Given the description of an element on the screen output the (x, y) to click on. 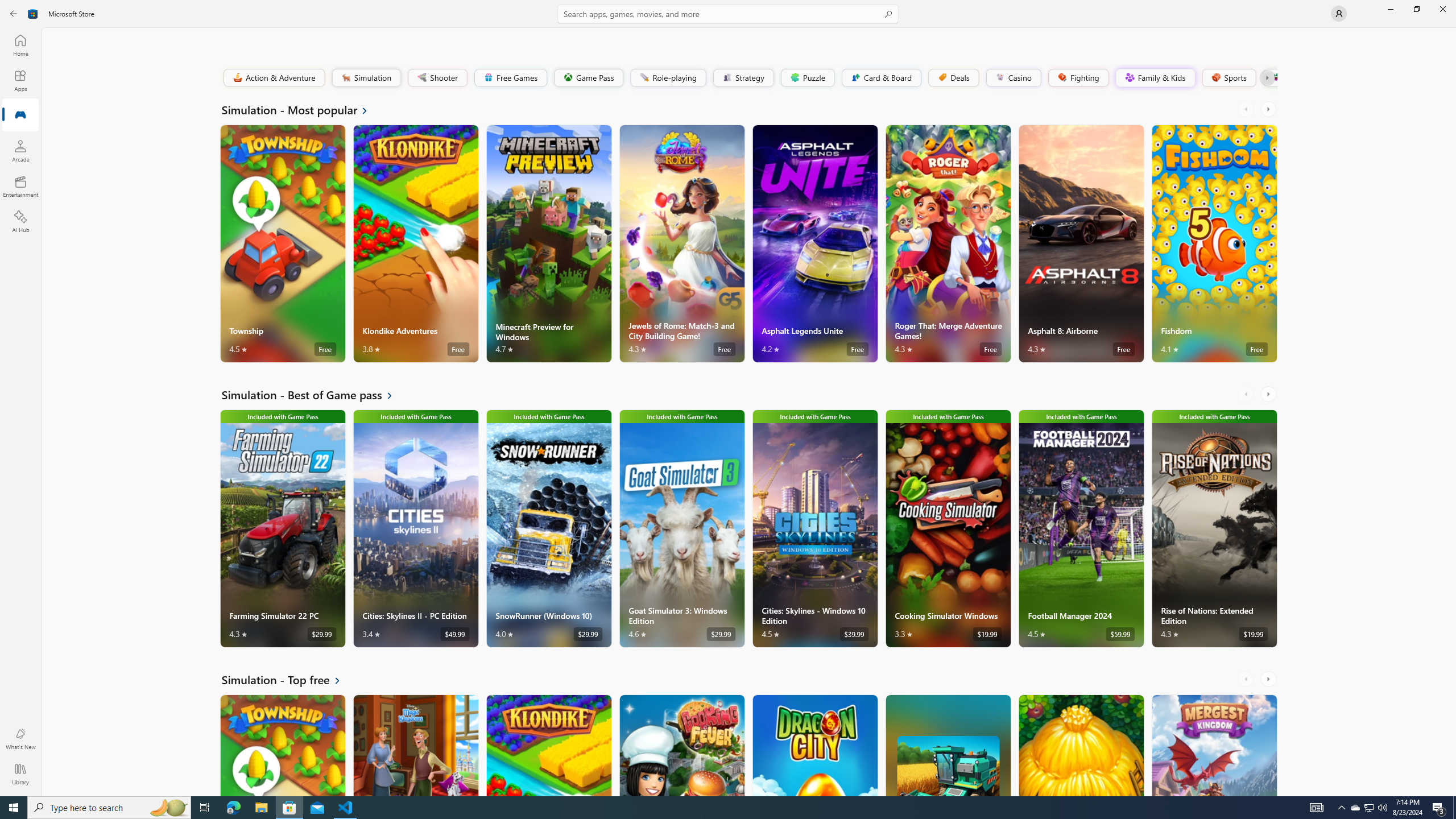
AutomationID: NavigationControl (728, 398)
AI Hub (20, 221)
See all  Simulation - Top free (287, 679)
Class: Image (1274, 76)
The Tribez. Average rating of 4.6 out of five stars. Free   (1080, 745)
AutomationID: LeftScrollButton (1246, 678)
See all  Simulation - Most popular (301, 109)
Deals (952, 77)
AutomationID: RightScrollButton (1269, 678)
